Given the description of an element on the screen output the (x, y) to click on. 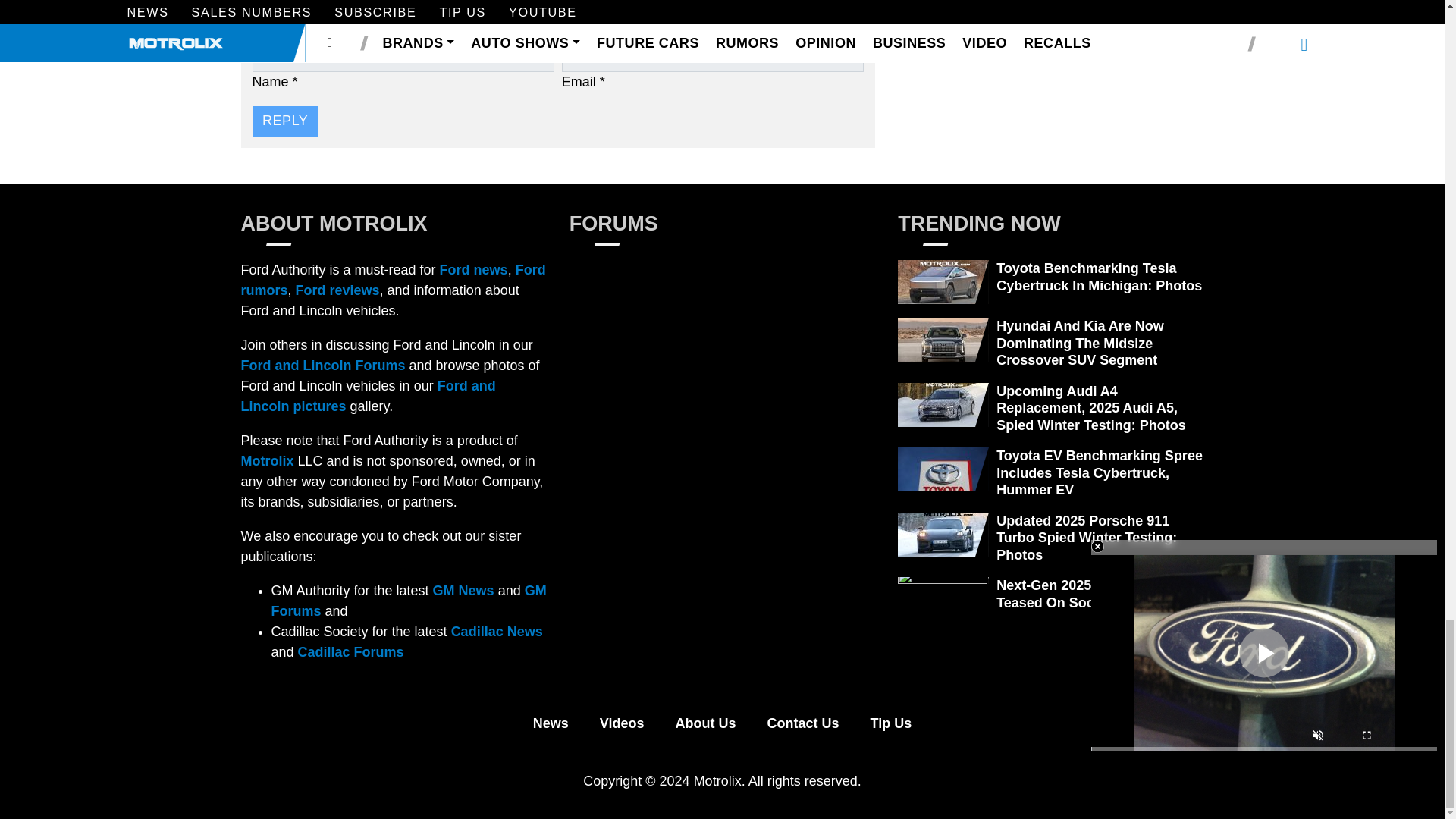
Reply (284, 121)
